Given the description of an element on the screen output the (x, y) to click on. 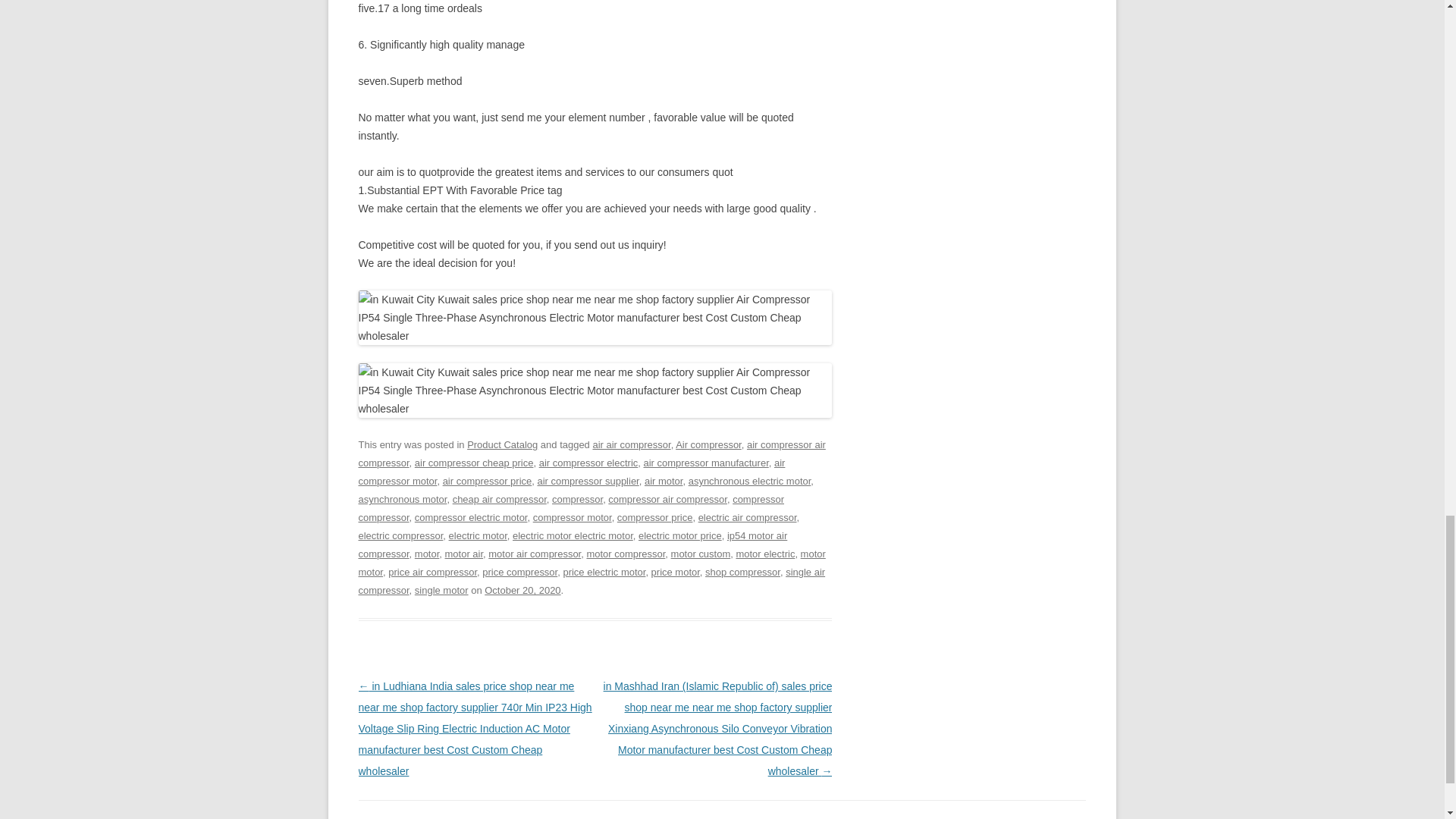
motor custom (700, 553)
electric motor (477, 535)
motor (426, 553)
compressor price (655, 517)
air compressor air compressor (591, 453)
air air compressor (630, 444)
Air compressor (708, 444)
air compressor cheap price (474, 462)
electric compressor (400, 535)
